Given the description of an element on the screen output the (x, y) to click on. 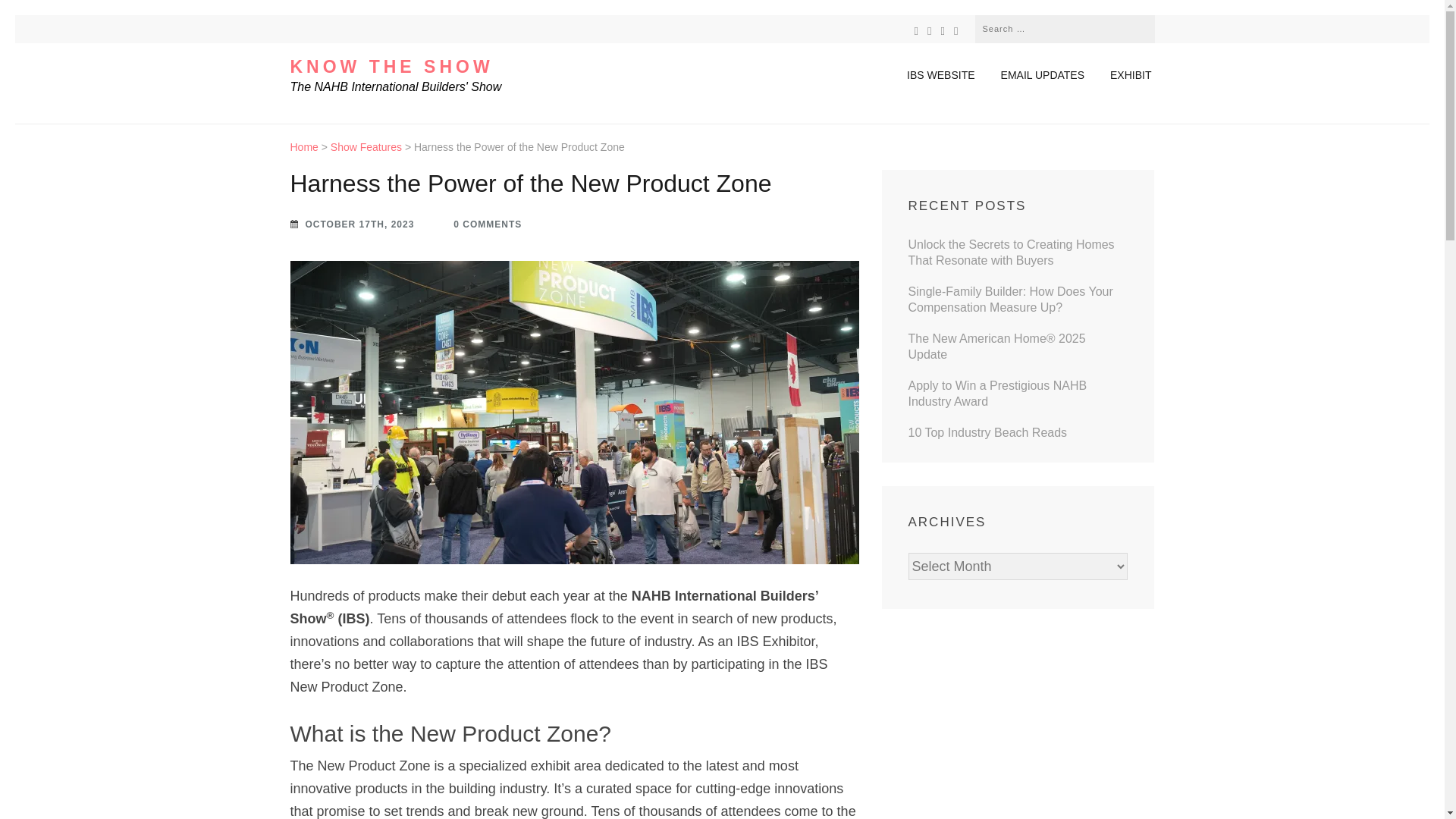
0 COMMENTS (479, 223)
Show Features (365, 146)
OCTOBER 17TH, 2023 (351, 223)
10 Top Industry Beach Reads (987, 431)
Home (303, 146)
Search (1142, 27)
KNOW THE SHOW (391, 66)
EMAIL UPDATES (1044, 75)
Apply to Win a Prestigious NAHB Industry Award (997, 393)
EXHIBIT (1131, 75)
Search (1142, 27)
Search (1142, 27)
IBS WEBSITE (941, 75)
